Given the description of an element on the screen output the (x, y) to click on. 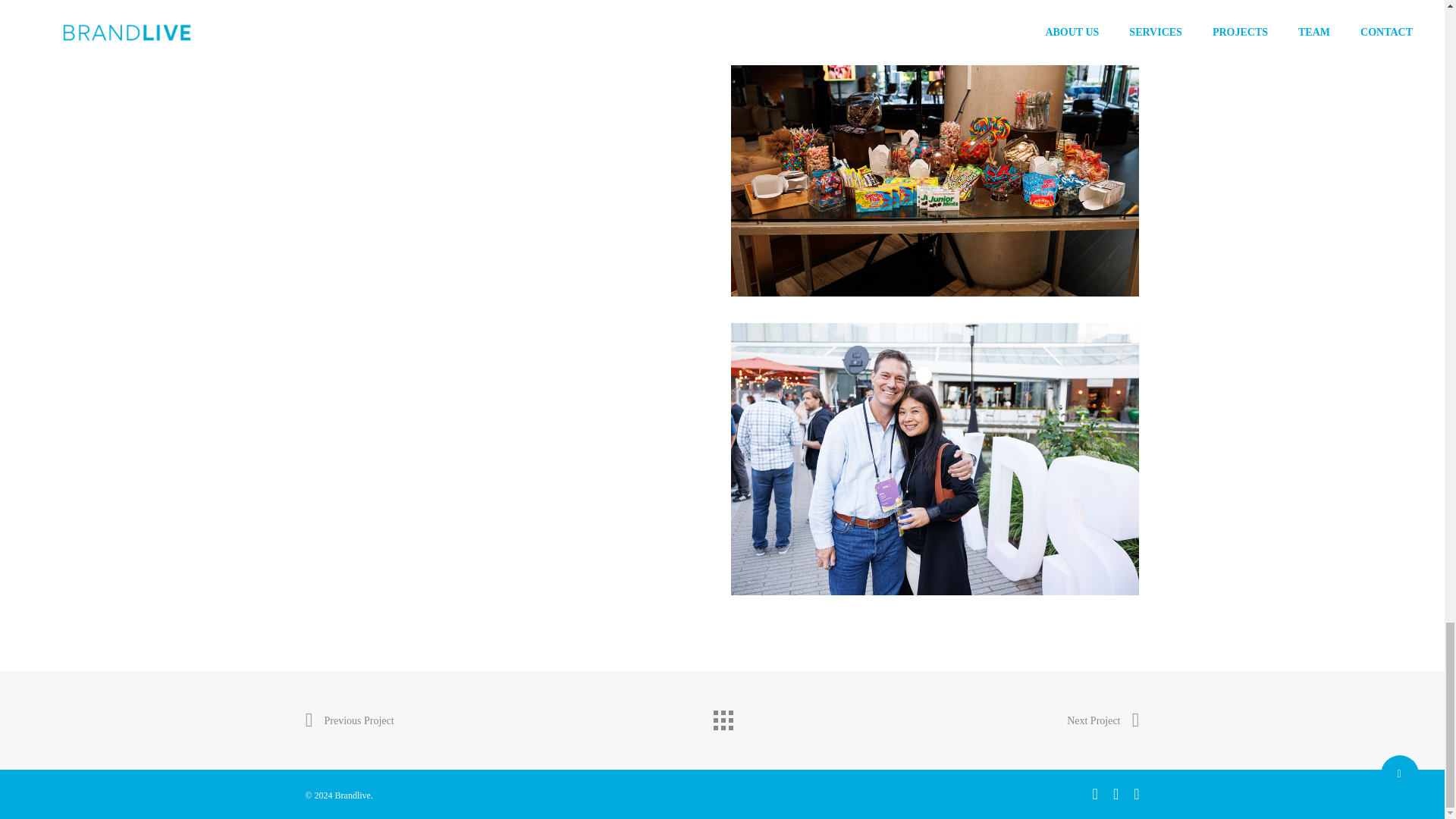
Next Project (1102, 721)
Back to all projects (721, 716)
Previous Project (348, 721)
